Given the description of an element on the screen output the (x, y) to click on. 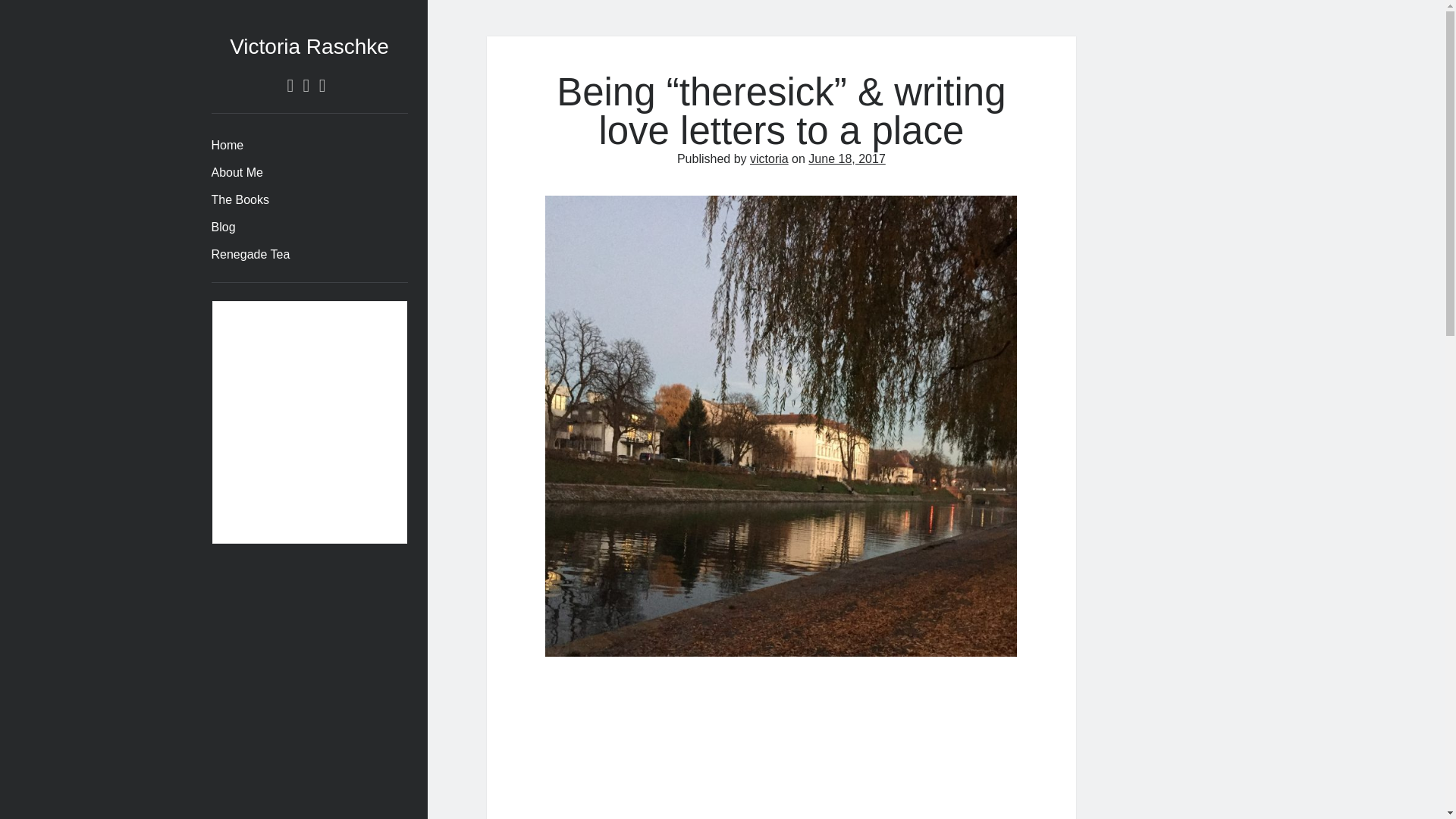
victoria (769, 158)
Victoria Raschke (309, 46)
About Me (236, 172)
Home (227, 145)
June 18, 2017 (846, 158)
Blog (222, 227)
Renegade Tea (250, 254)
The Books (239, 199)
